Given the description of an element on the screen output the (x, y) to click on. 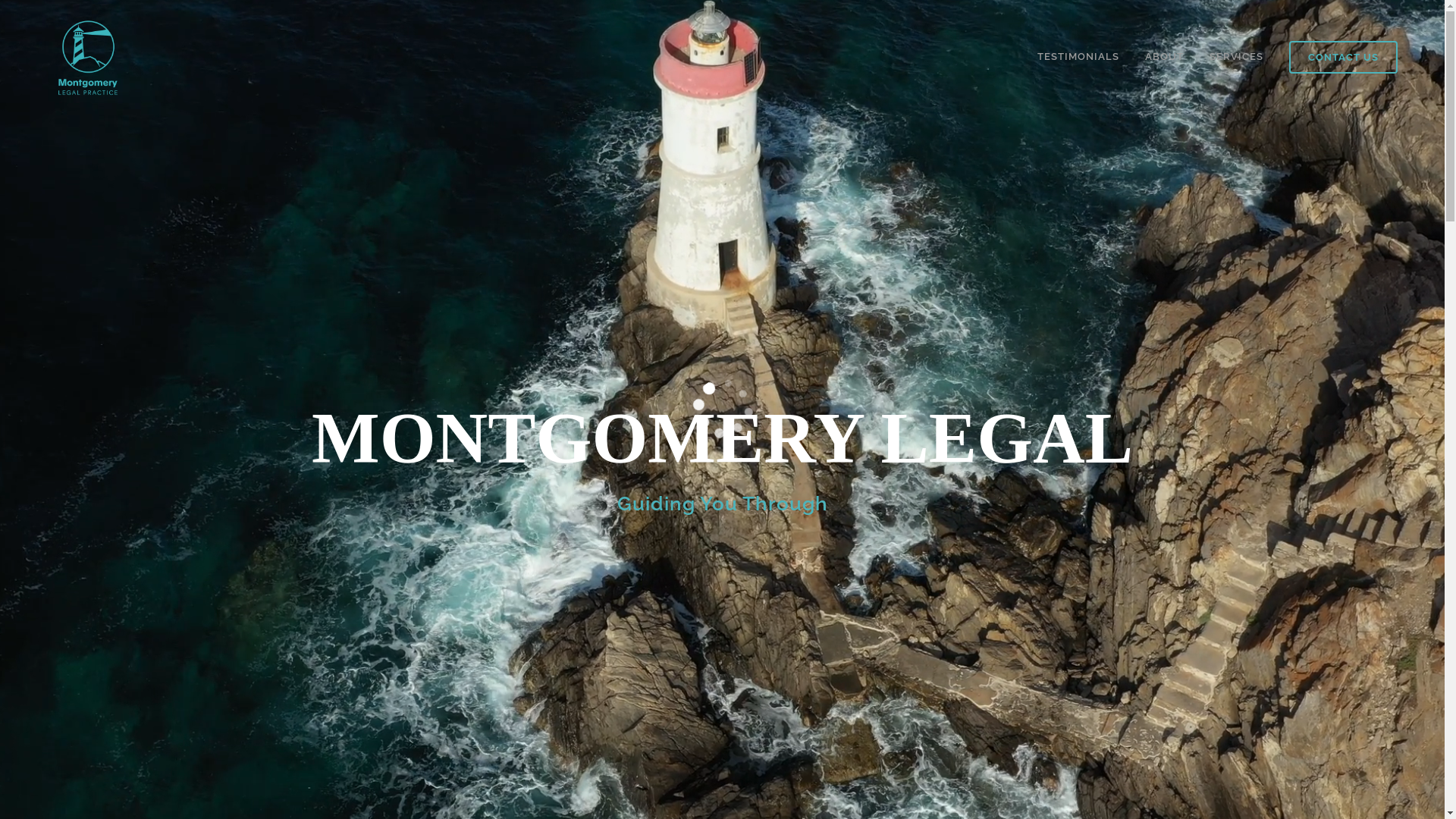
ABOUT Element type: text (1164, 56)
CONTACT US Element type: text (1343, 56)
SERVICES Element type: text (1236, 56)
TESTIMONIALS Element type: text (1078, 56)
